Given the description of an element on the screen output the (x, y) to click on. 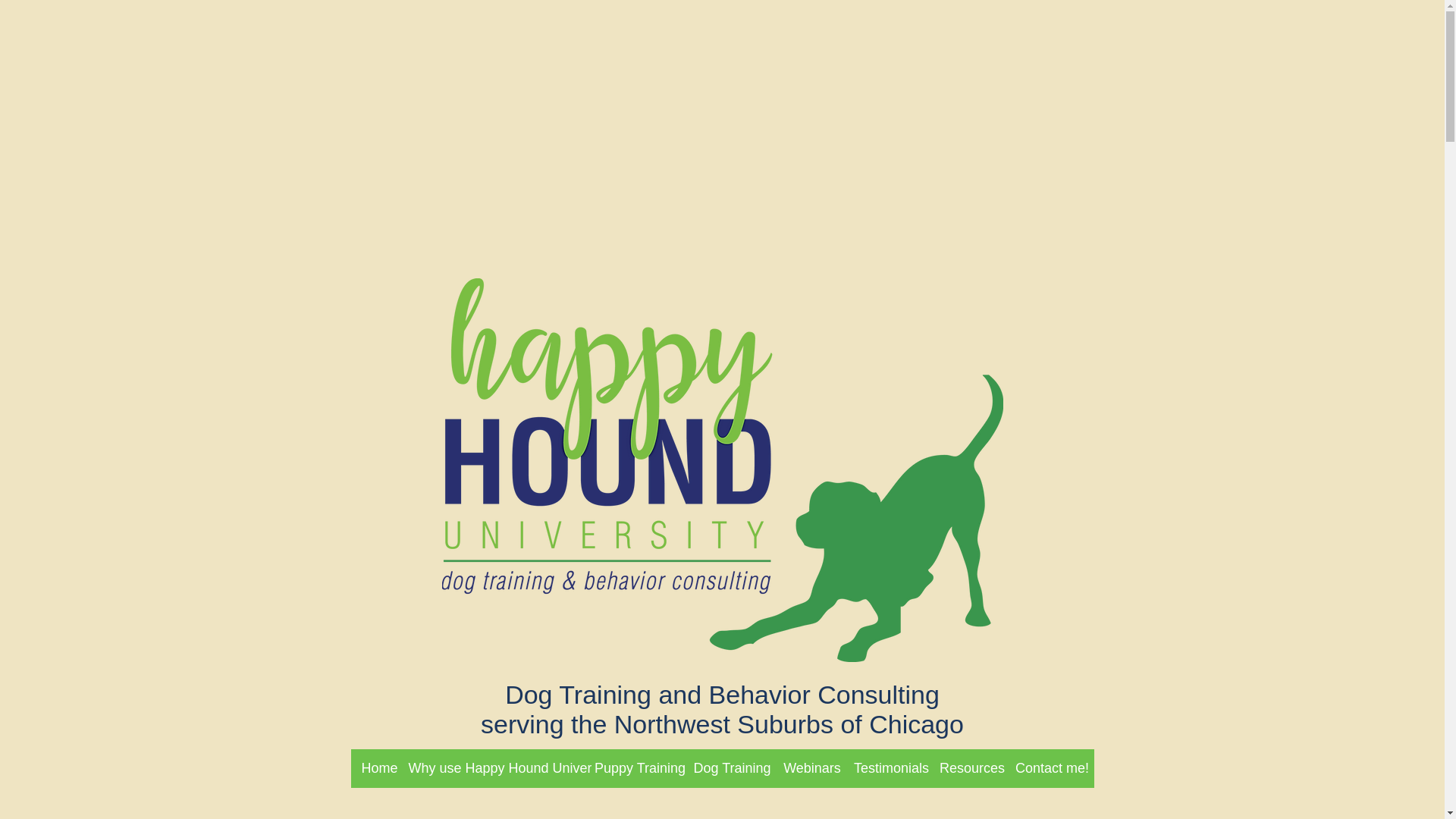
Contact me! (1051, 768)
Home (378, 768)
Why use Happy Hound University? (499, 768)
Webinars (811, 768)
Testimonials (891, 768)
